Given the description of an element on the screen output the (x, y) to click on. 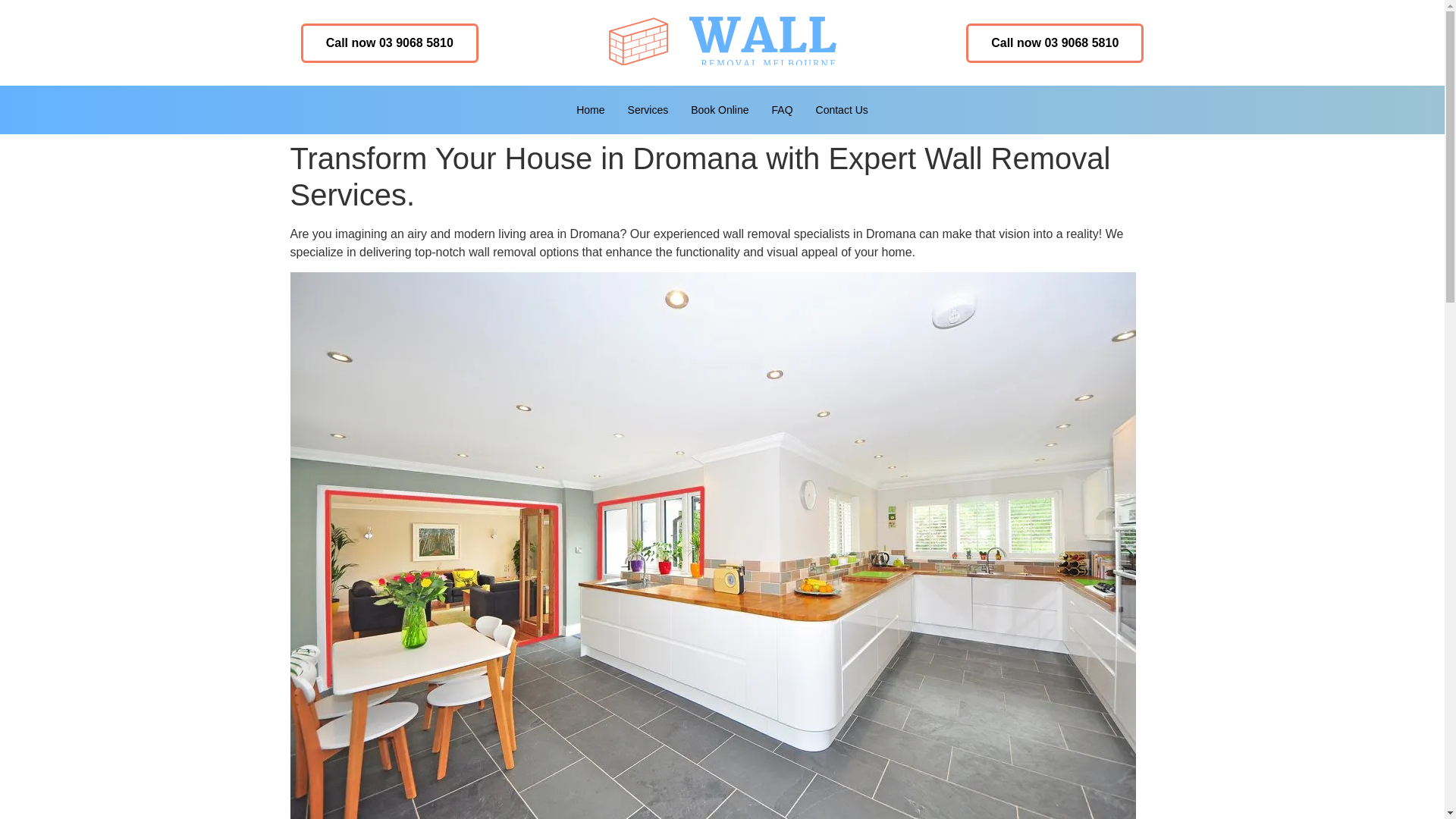
Call now 03 9068 5810 (1054, 42)
Book Online (719, 109)
Contact Us (842, 109)
Home (589, 109)
FAQ (782, 109)
Call now 03 9068 5810 (390, 42)
Services (647, 109)
